Given the description of an element on the screen output the (x, y) to click on. 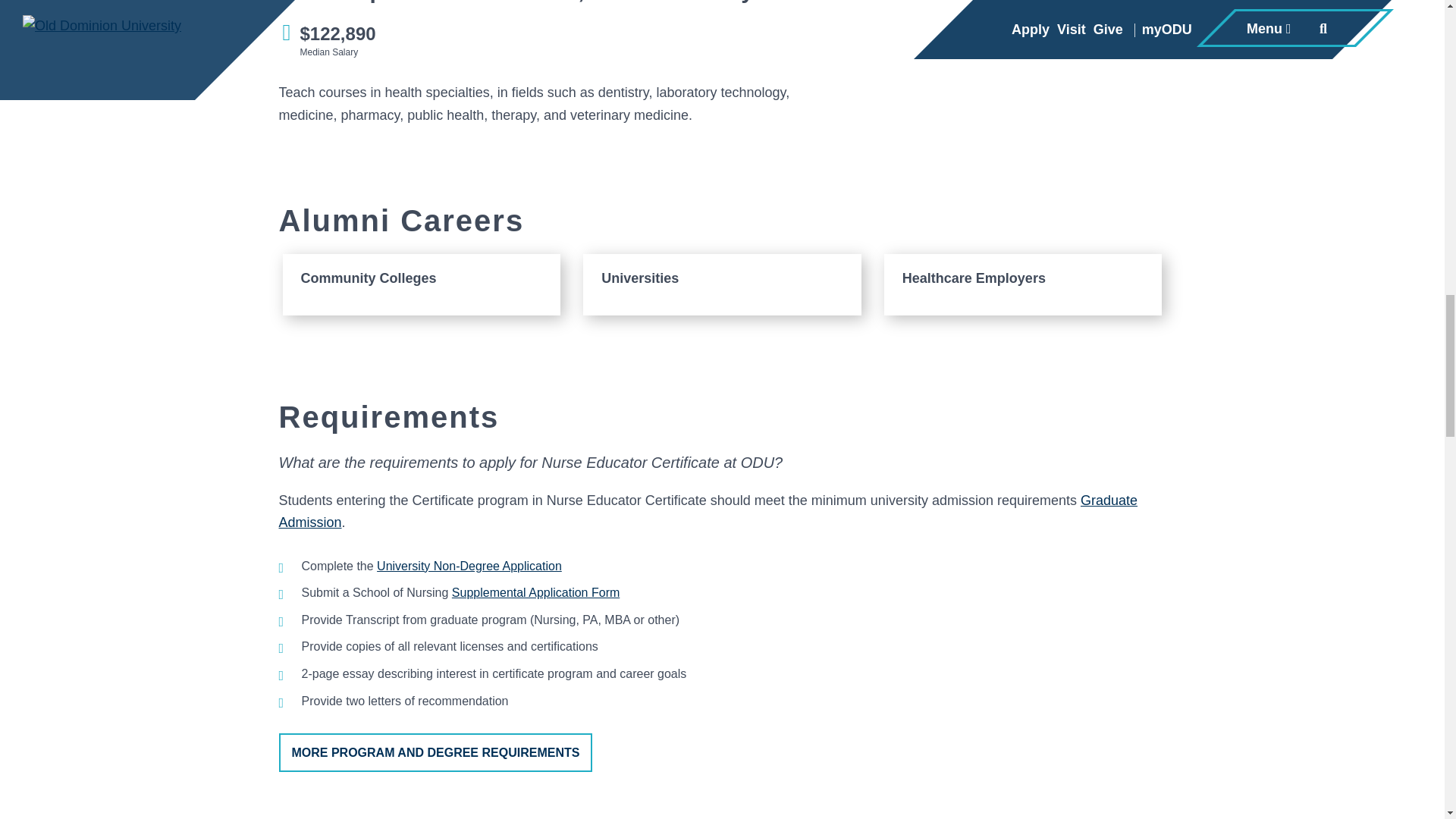
Graduate Admission (708, 511)
University Non-Degree Application (469, 565)
MORE PROGRAM AND DEGREE REQUIREMENTS (435, 752)
Supplemental Application Form (535, 592)
